Given the description of an element on the screen output the (x, y) to click on. 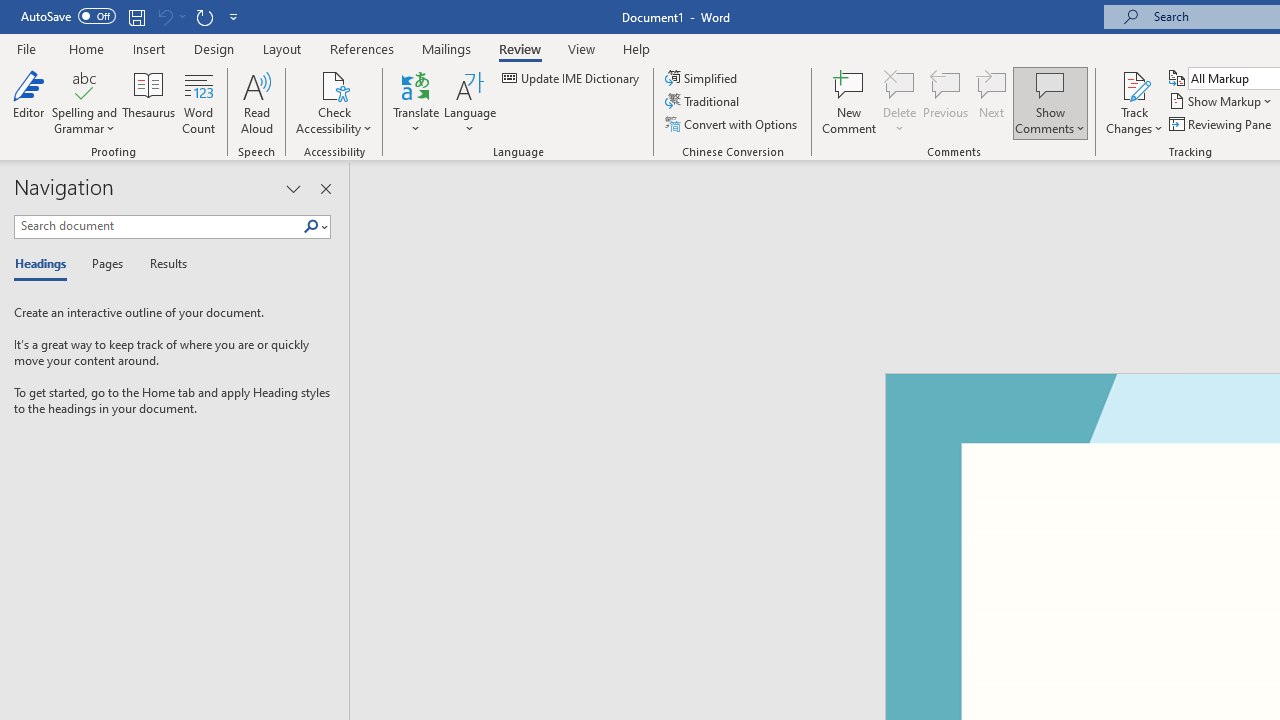
Word Count (198, 102)
Close pane (325, 188)
Delete (900, 84)
Spelling and Grammar (84, 102)
Track Changes (1134, 102)
Traditional (703, 101)
Thesaurus... (148, 102)
Previous (946, 102)
Pages (105, 264)
